Given the description of an element on the screen output the (x, y) to click on. 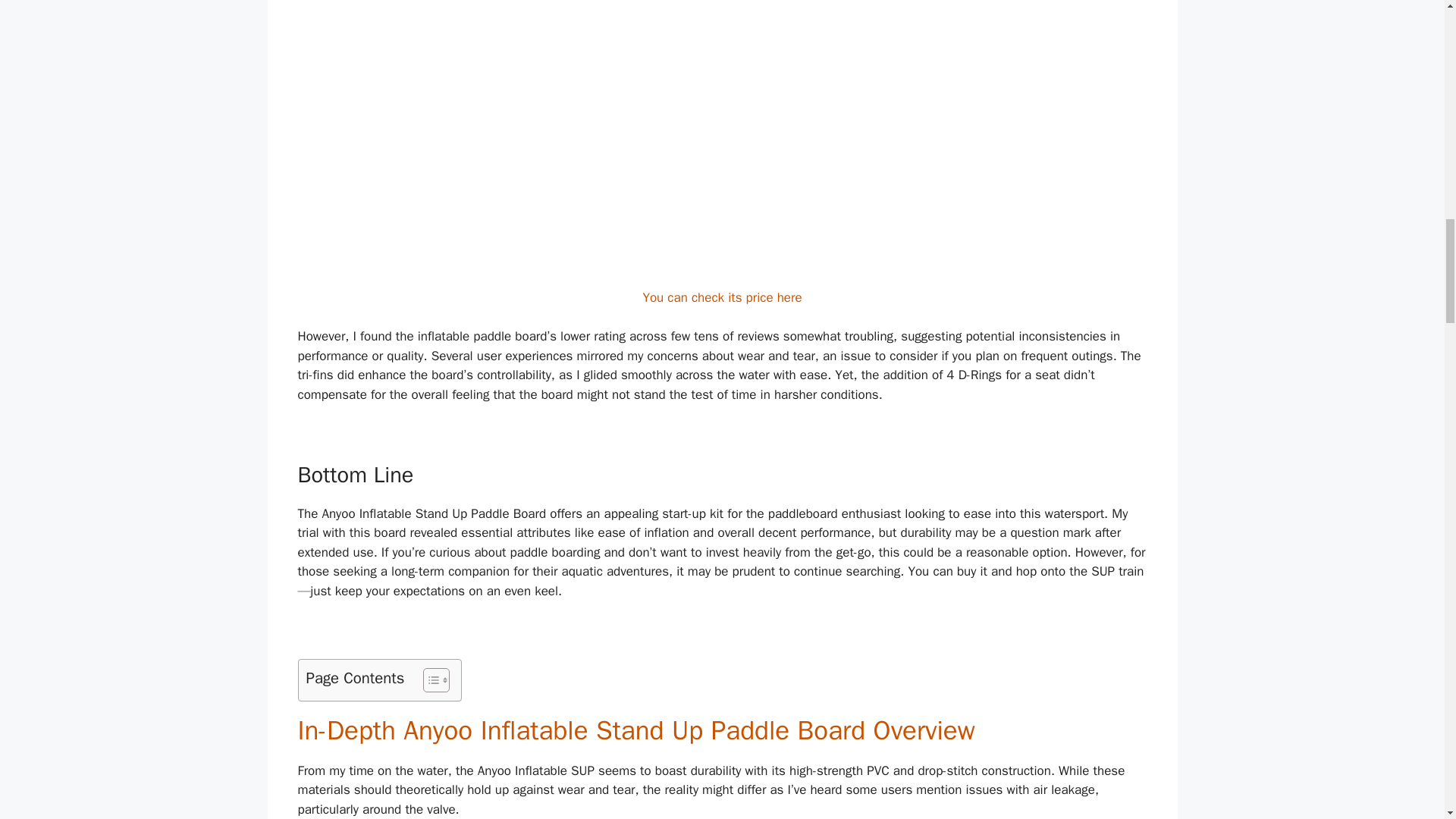
You can check its price here (722, 297)
